Given the description of an element on the screen output the (x, y) to click on. 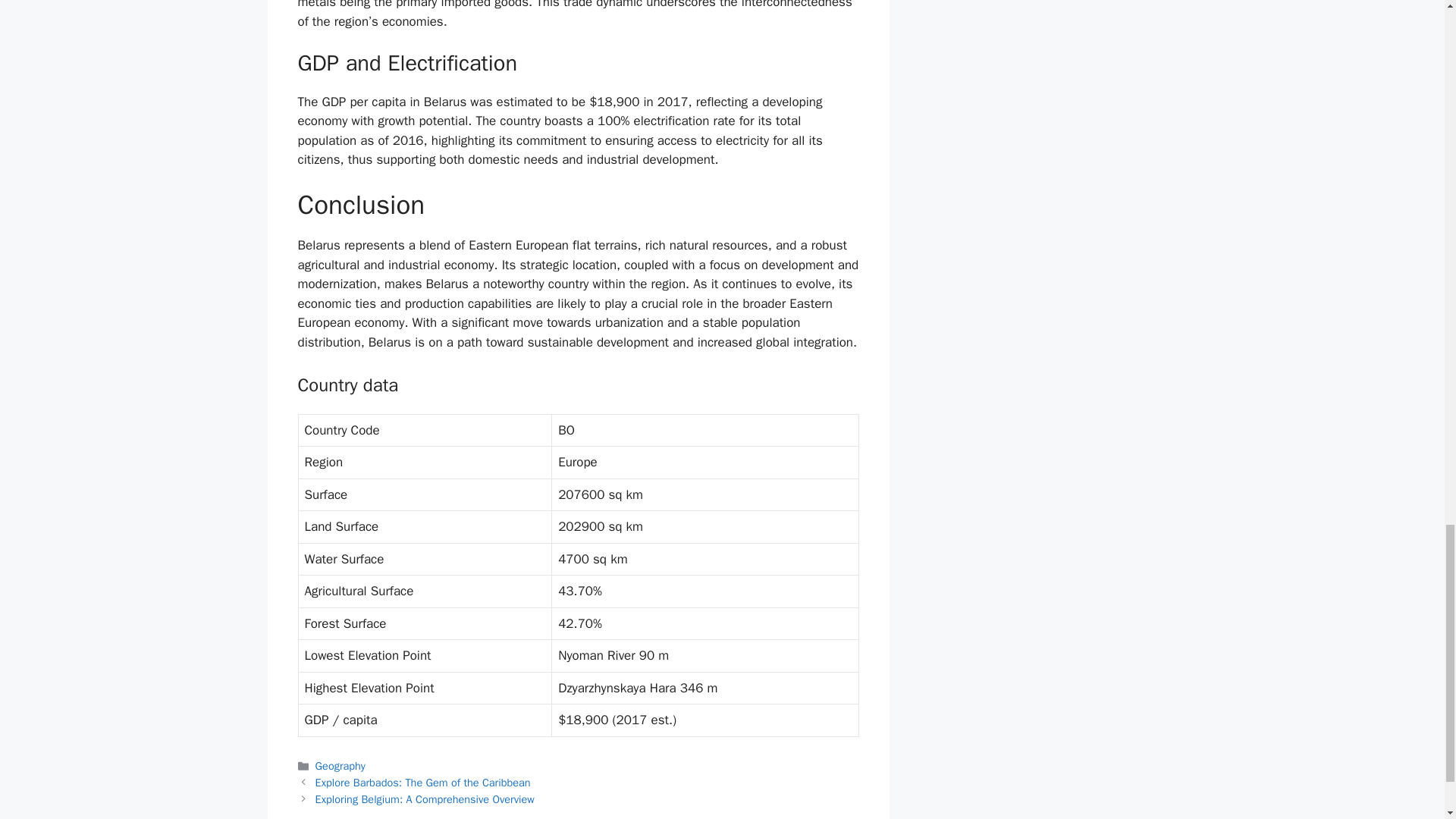
Explore Barbados: The Gem of the Caribbean (423, 782)
Previous (423, 782)
Exploring Belgium: A Comprehensive Overview (424, 798)
Next (424, 798)
Geography (340, 766)
